Given the description of an element on the screen output the (x, y) to click on. 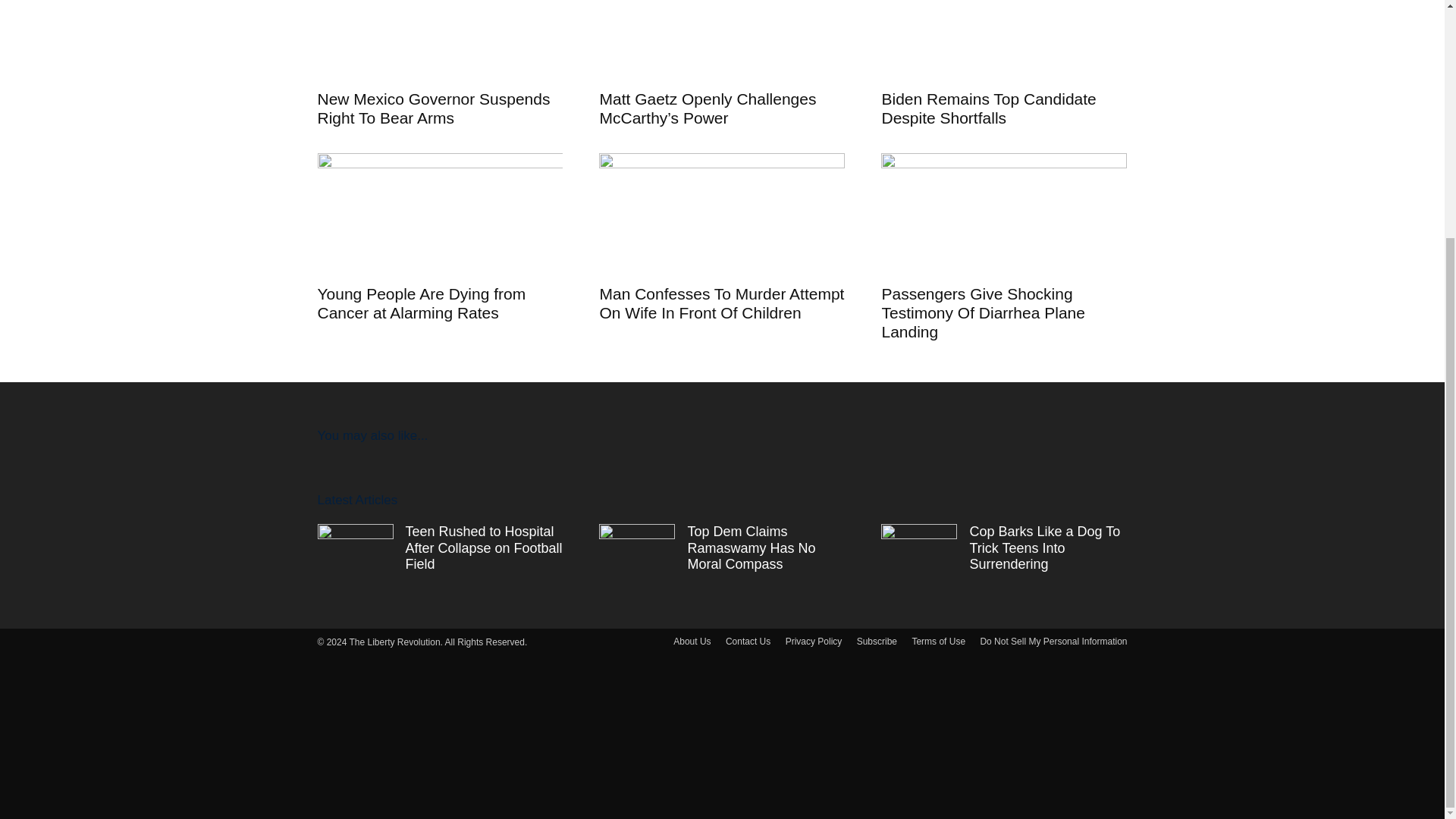
Biden Remains Top Candidate Despite Shortfalls (988, 108)
Young People Are Dying from Cancer at Alarming Rates (421, 303)
Top Dem Claims Ramaswamy Has No Moral Compass (751, 547)
Man Confesses To Murder Attempt On Wife In Front Of Children (721, 303)
Cop Barks Like a Dog To Trick Teens Into Surrendering (1044, 547)
New Mexico Governor Suspends Right To Bear Arms (433, 108)
Biden Remains Top Candidate Despite Shortfalls (1003, 39)
Teen Rushed to Hospital After Collapse on Football Field (483, 547)
New Mexico Governor Suspends Right To Bear Arms (439, 39)
Passengers Give Shocking Testimony Of Diarrhea Plane Landing (982, 312)
